Given the description of an element on the screen output the (x, y) to click on. 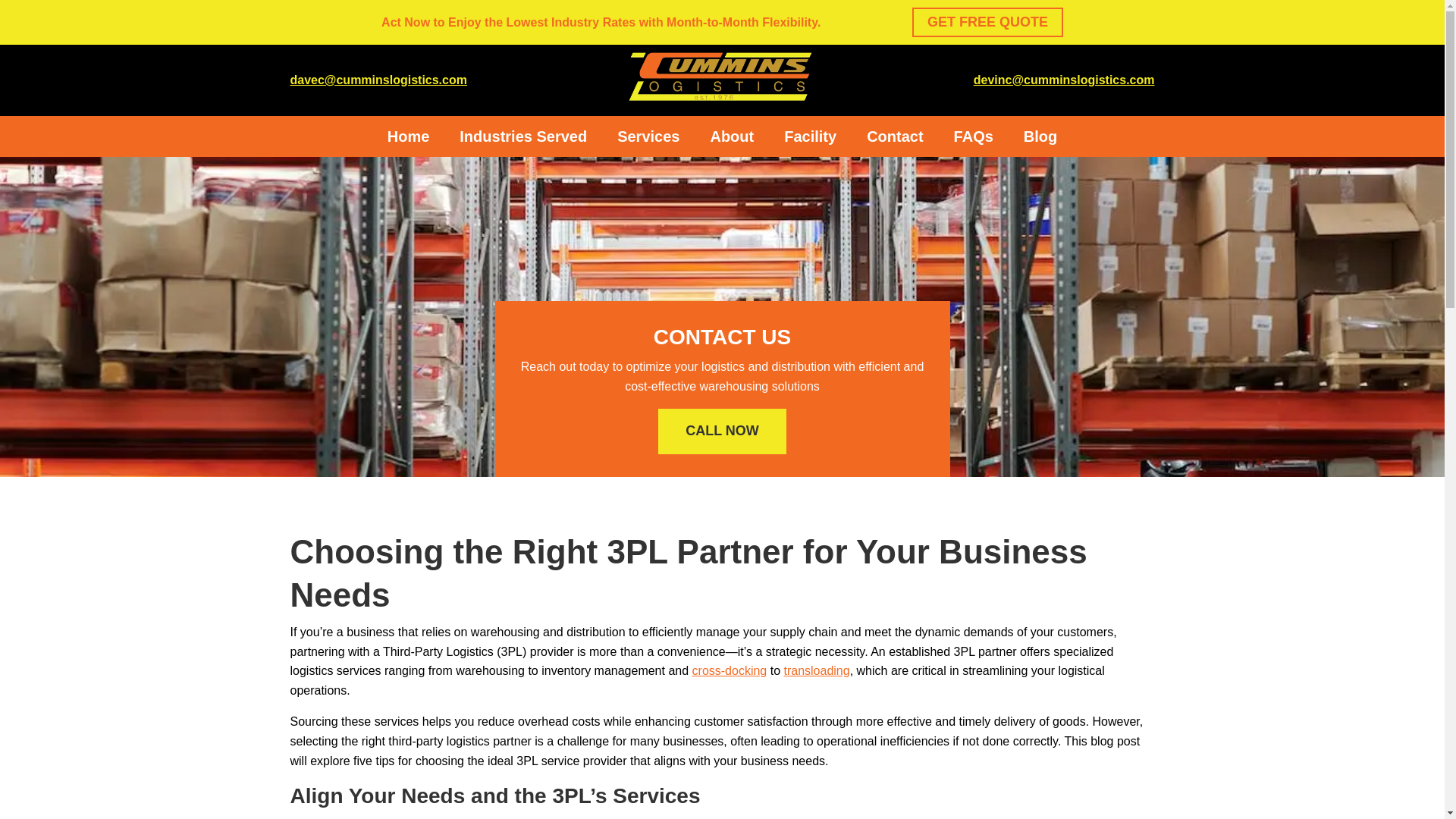
About (732, 136)
cross-docking (730, 670)
warehousing (1004, 817)
CALL NOW (722, 431)
Home (408, 136)
Contact (894, 136)
FAQs (972, 136)
Facility (809, 136)
Services (648, 136)
GET FREE QUOTE (987, 21)
transloading (815, 670)
Industries Served (523, 136)
